Given the description of an element on the screen output the (x, y) to click on. 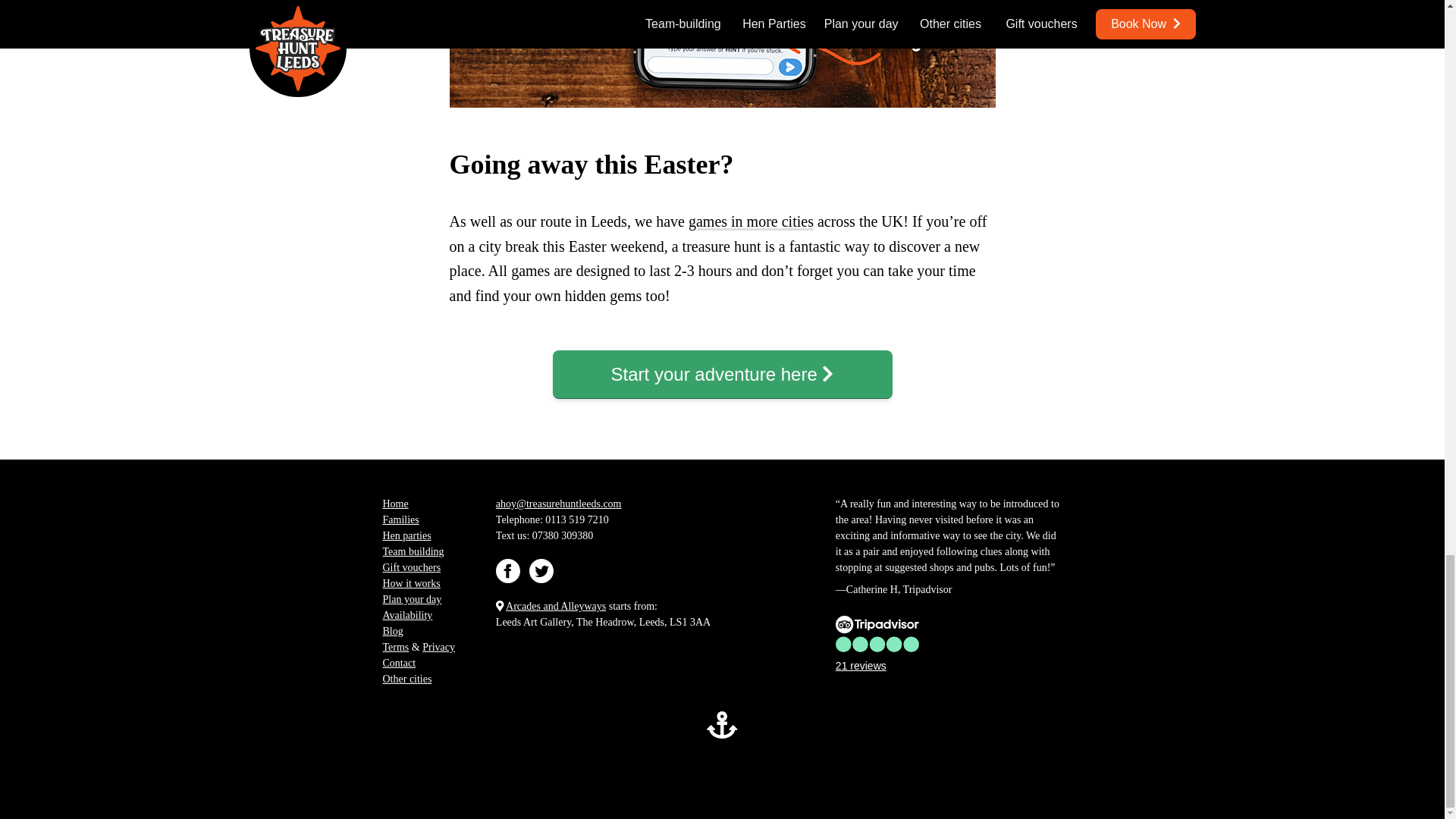
Gift vouchers (411, 567)
Other cities (405, 678)
Home (394, 503)
Plan your day (411, 599)
07380 309380 (563, 535)
Privacy (438, 646)
games in more cities (750, 221)
Arcades and Alleyways (555, 605)
Families (400, 519)
Hen parties (405, 535)
Blog (392, 631)
Start your adventure here (721, 374)
21 reviews (876, 644)
Team building (412, 551)
How it works (410, 583)
